Given the description of an element on the screen output the (x, y) to click on. 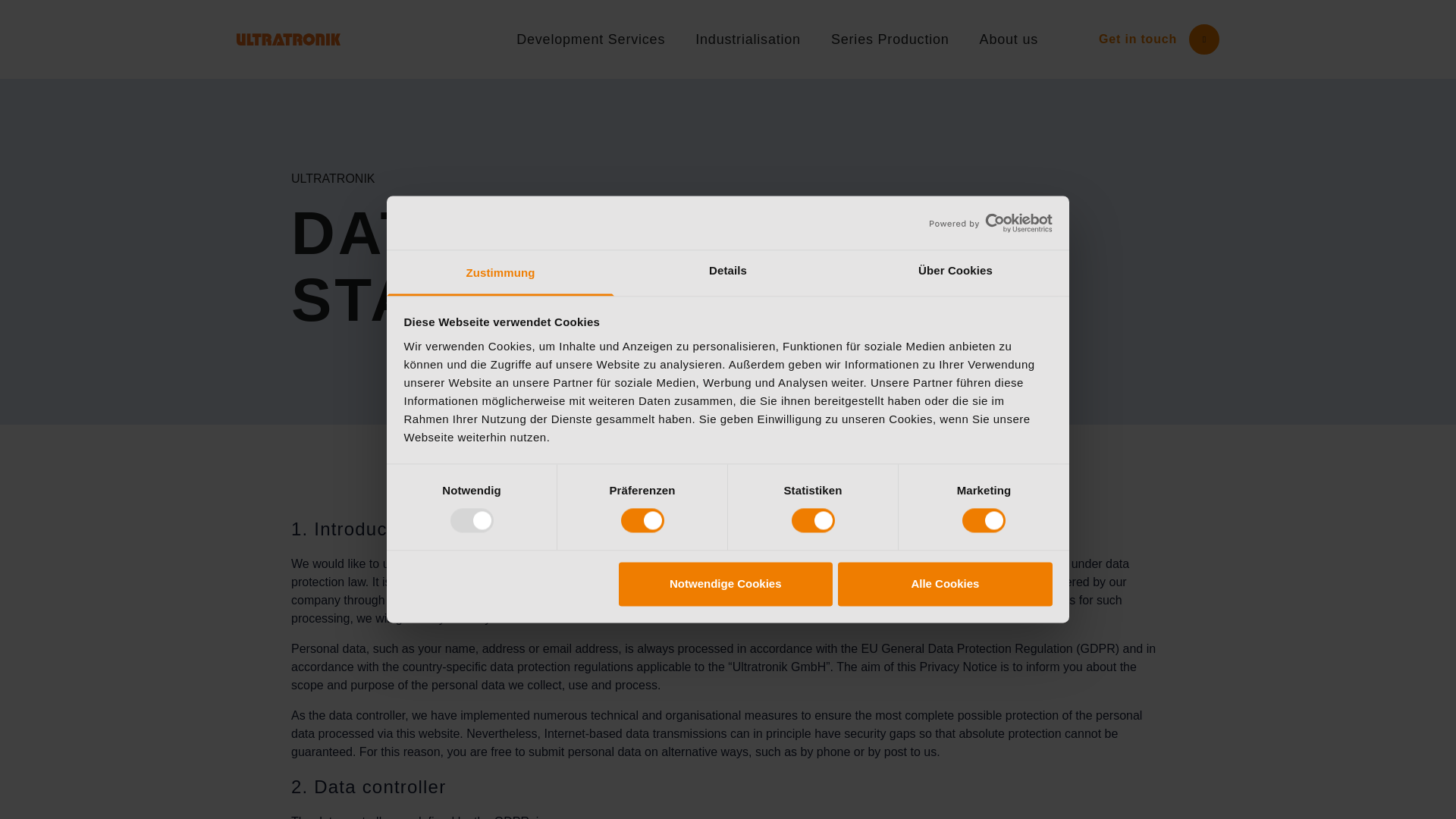
Notwendige Cookies (725, 583)
Series Production (890, 38)
Zustimmung (500, 272)
Details (727, 272)
Alle Cookies (944, 583)
About us (1008, 38)
Industrialisation (747, 38)
Development Services (590, 38)
Get in touch (1159, 39)
